Given the description of an element on the screen output the (x, y) to click on. 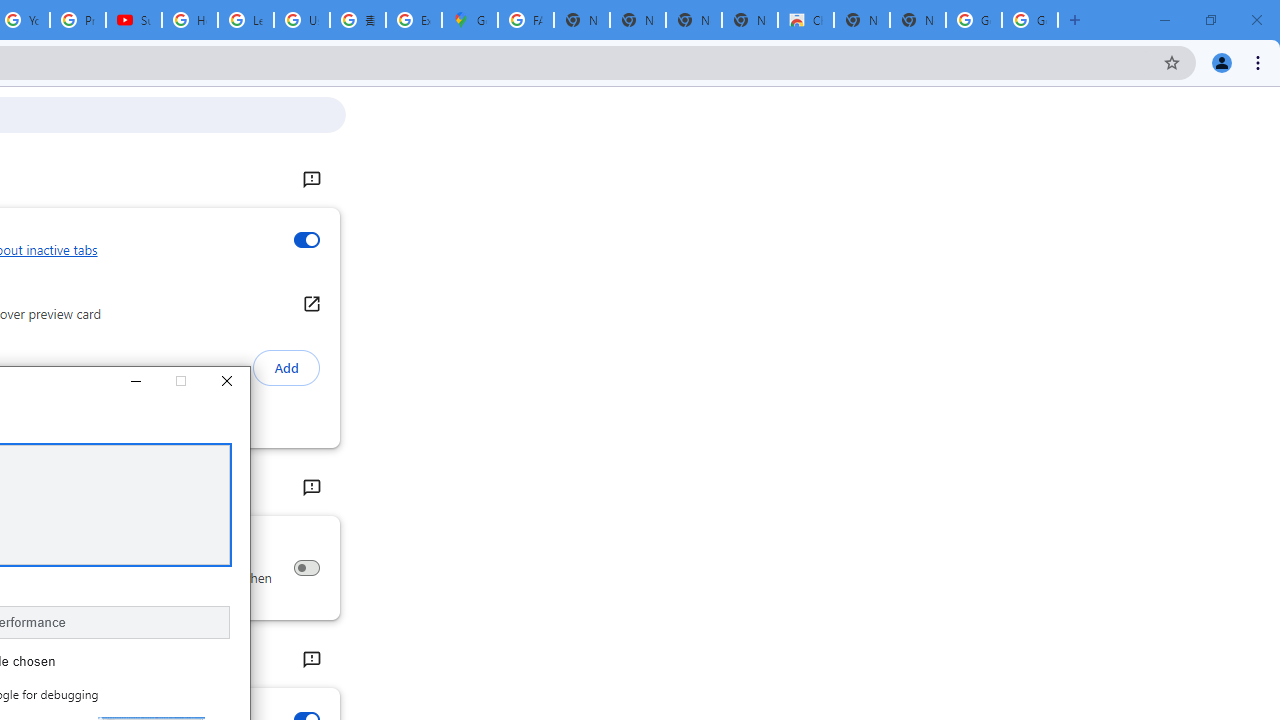
Inactive tabs appearance (306, 240)
Google Maps (469, 20)
Subscriptions - YouTube (134, 20)
Explore new street-level details - Google Maps Help (413, 20)
Speed (310, 659)
